Given the description of an element on the screen output the (x, y) to click on. 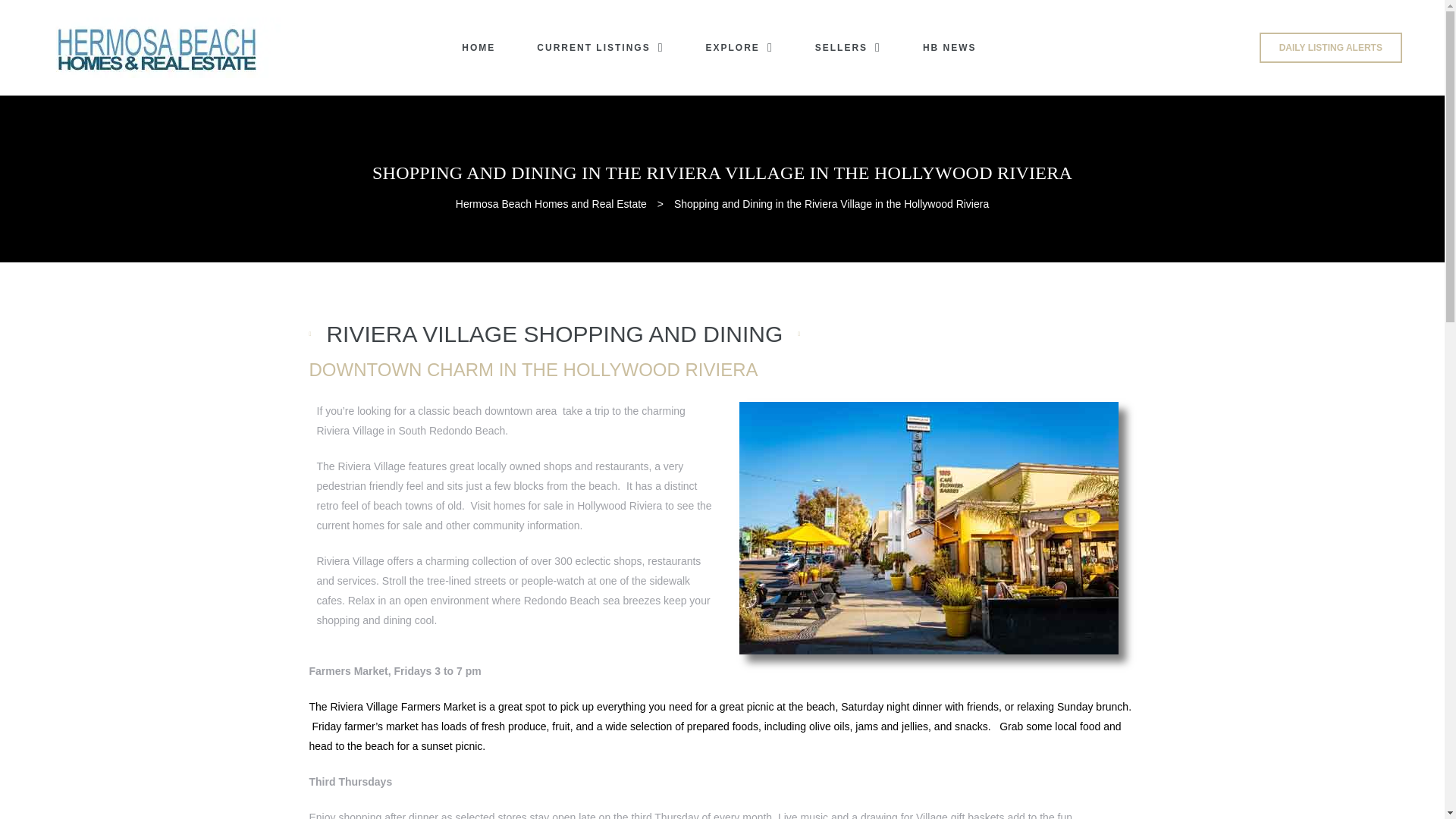
Go to Hermosa Beach Homes and Real Estate. (550, 203)
Hermosa-Beach-Header (159, 47)
